Given the description of an element on the screen output the (x, y) to click on. 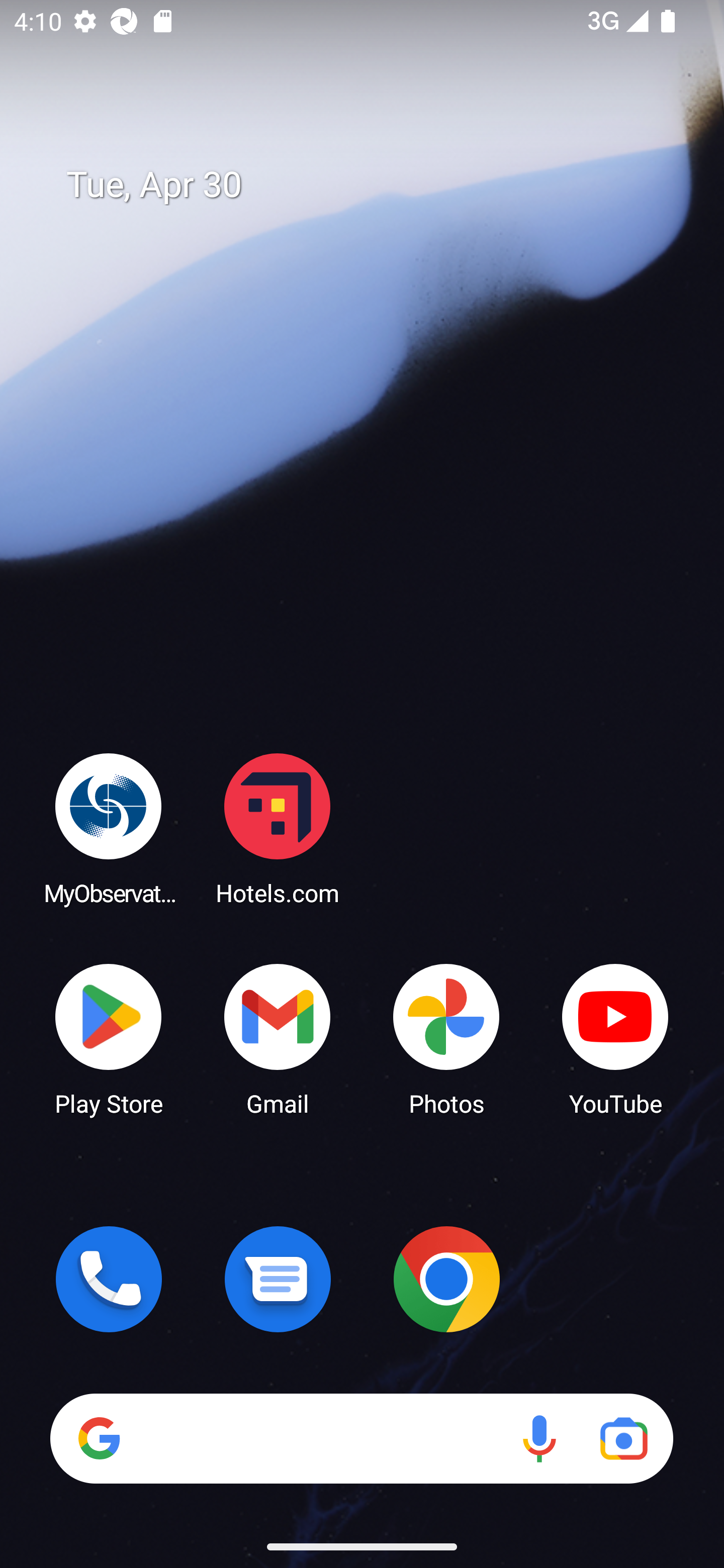
Tue, Apr 30 (375, 184)
MyObservatory (108, 828)
Hotels.com (277, 828)
Play Store (108, 1038)
Gmail (277, 1038)
Photos (445, 1038)
YouTube (615, 1038)
Phone (108, 1279)
Messages (277, 1279)
Chrome (446, 1279)
Search Voice search Google Lens (361, 1438)
Voice search (539, 1438)
Google Lens (623, 1438)
